Given the description of an element on the screen output the (x, y) to click on. 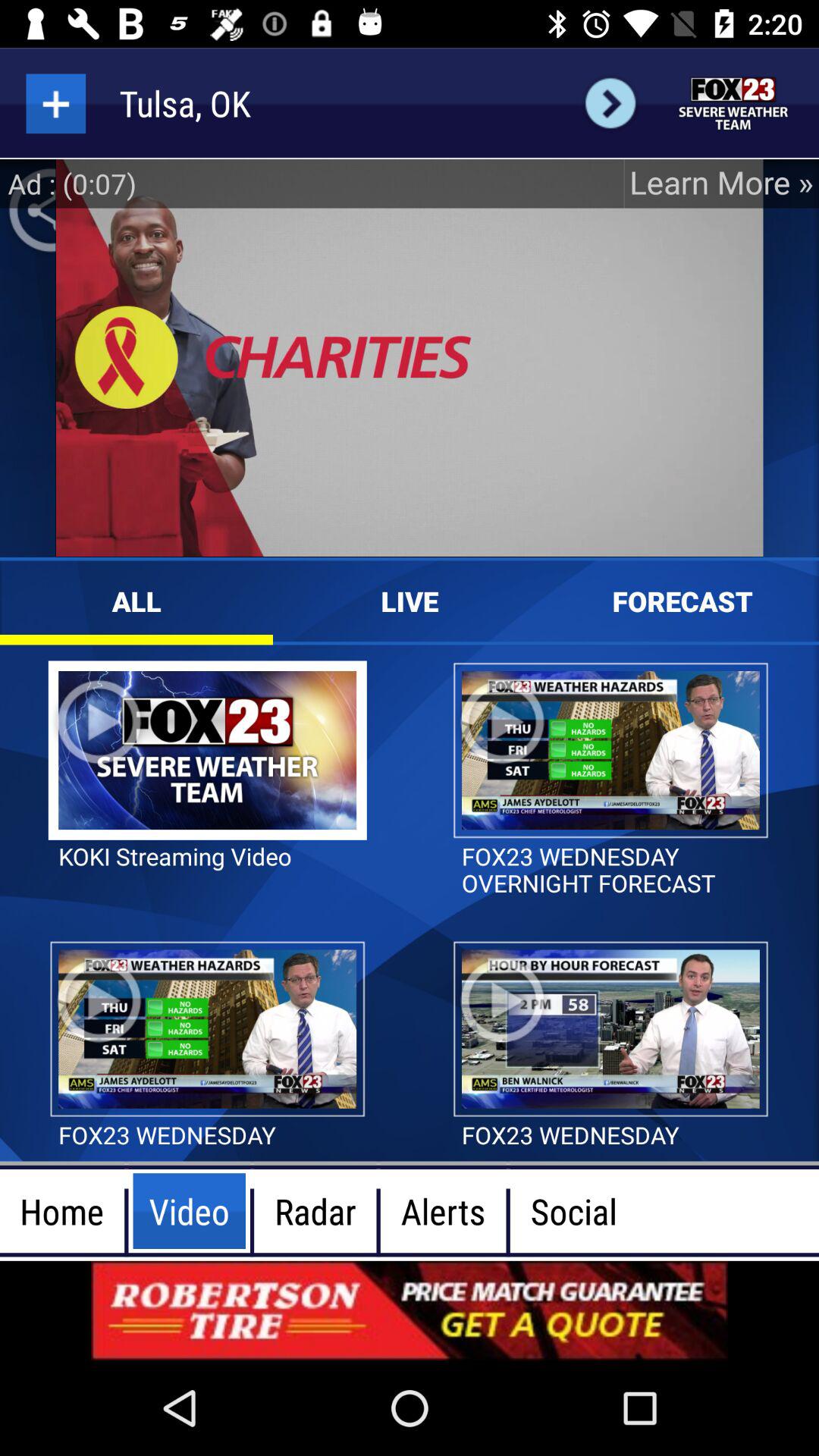
go to next (610, 103)
